Given the description of an element on the screen output the (x, y) to click on. 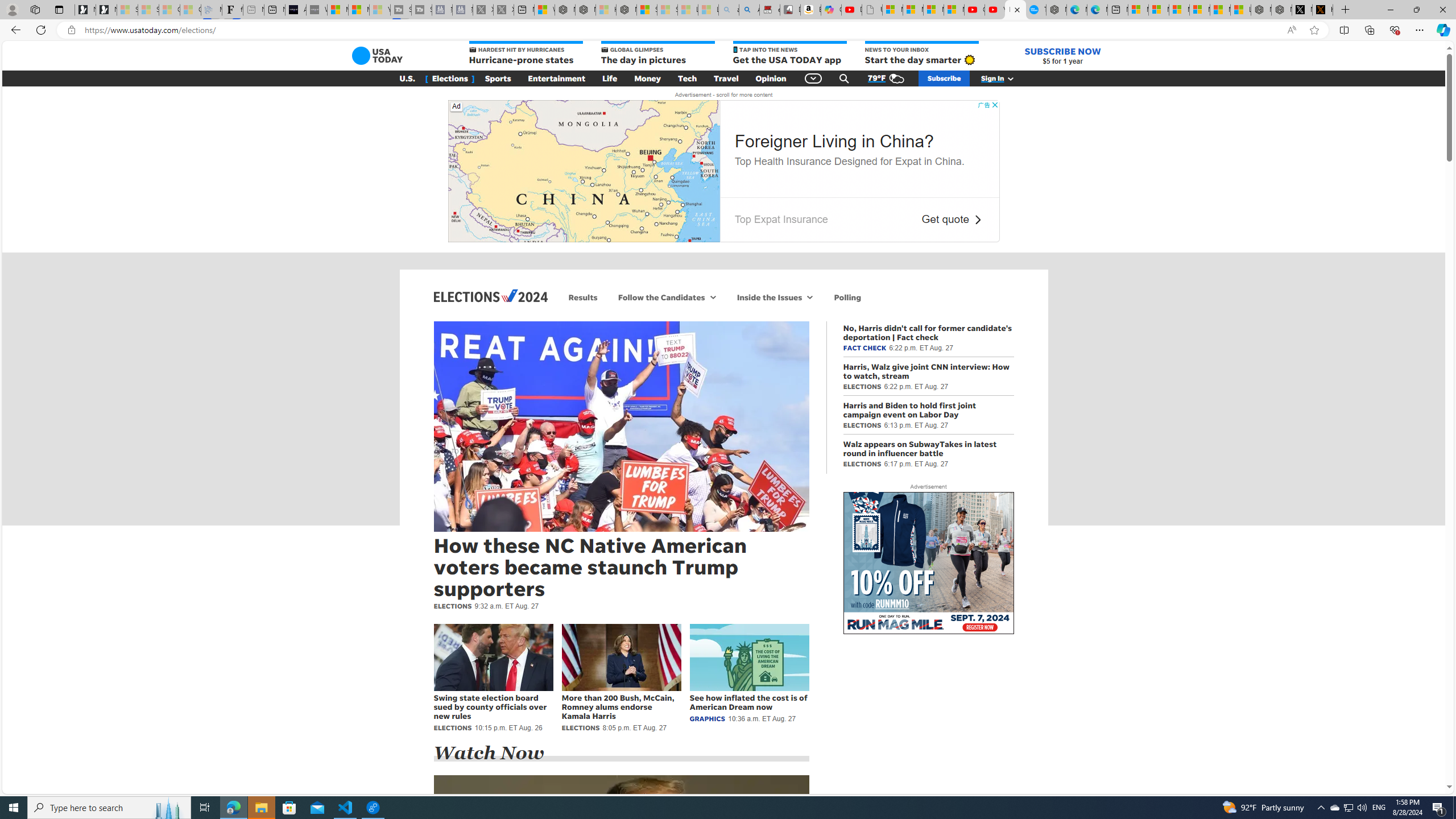
Nordace - Summer Adventures 2024 (1281, 9)
Class: gnt_n_dd_bt_svg (813, 78)
More Inside the Issues navigation (810, 296)
Read aloud this page (Ctrl+Shift+U) (1291, 29)
Class: gnt_n_lg_svg (376, 55)
Microsoft account | Privacy (1199, 9)
View site information (70, 29)
X - Sleeping (503, 9)
App bar (728, 29)
